Given the description of an element on the screen output the (x, y) to click on. 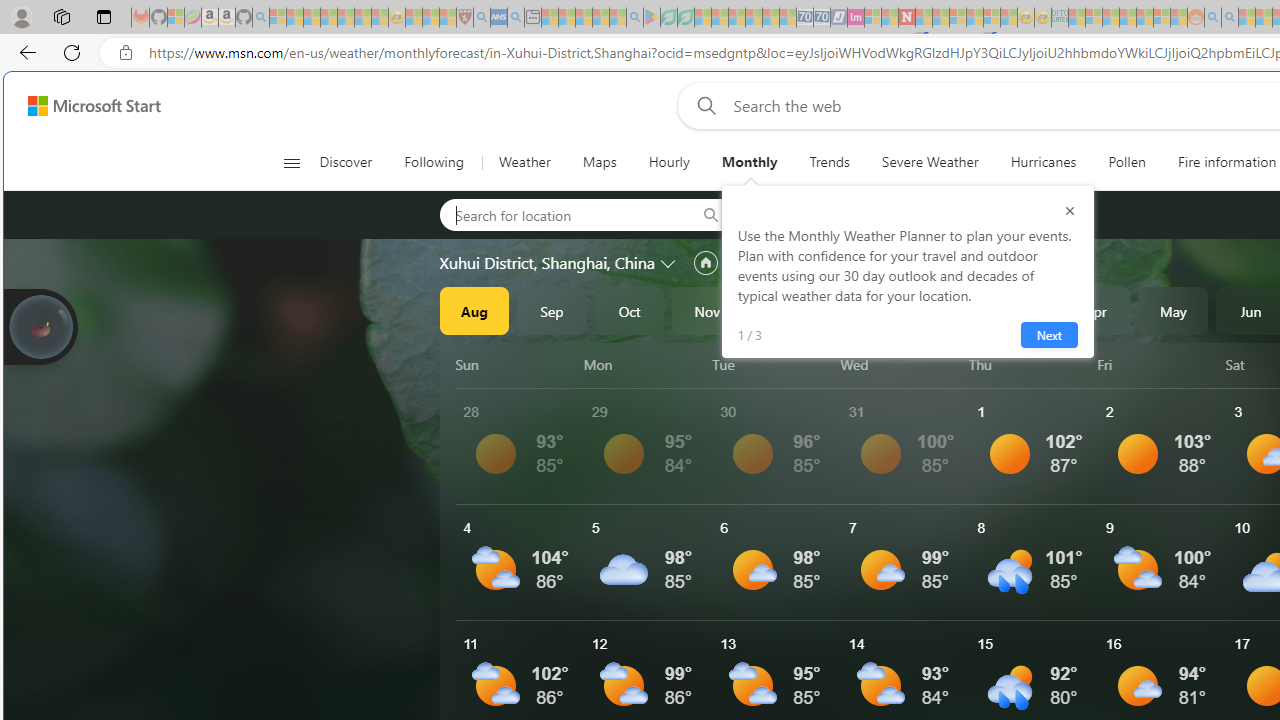
Change location (669, 262)
Feb (939, 310)
Apr (1095, 310)
The Weather Channel - MSN - Sleeping (311, 17)
Latest Politics News & Archive | Newsweek.com - Sleeping (906, 17)
Severe Weather (930, 162)
May (1173, 310)
